Given the description of an element on the screen output the (x, y) to click on. 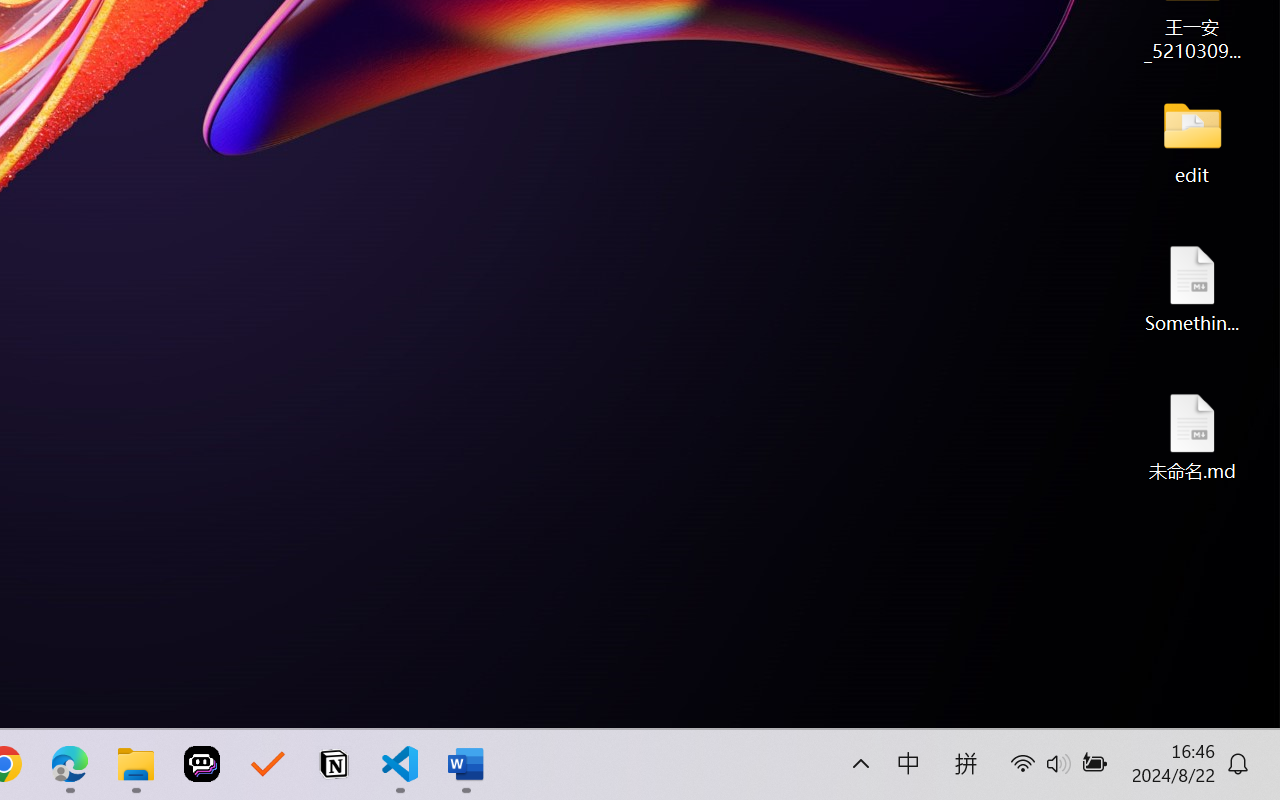
edit (1192, 140)
